Given the description of an element on the screen output the (x, y) to click on. 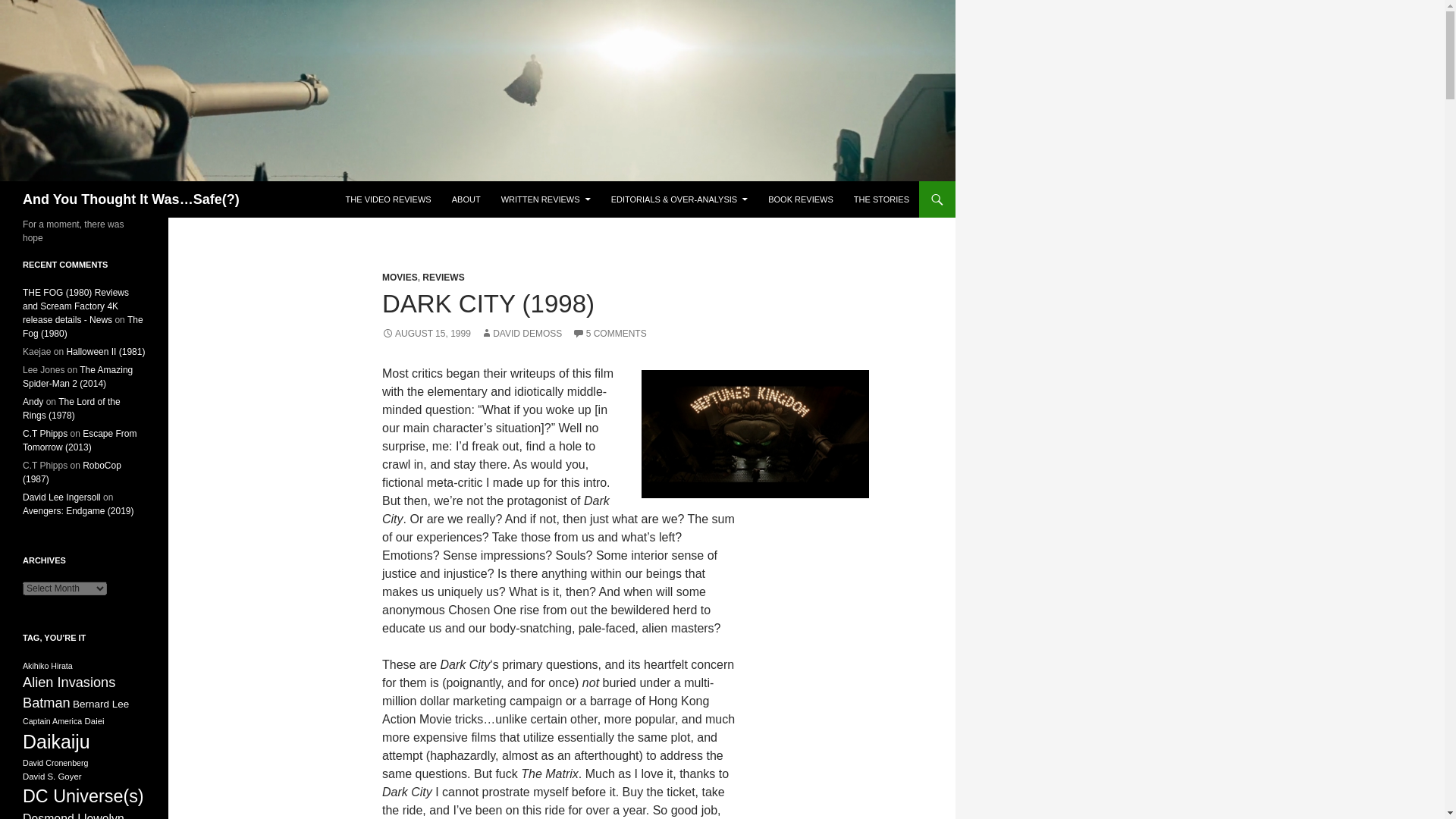
5 COMMENTS (609, 333)
THE VIDEO REVIEWS (388, 198)
AUGUST 15, 1999 (425, 333)
REVIEWS (443, 276)
BOOK REVIEWS (800, 198)
MOVIES (399, 276)
"Abandon all hope, ye who enter here." (755, 433)
ABOUT (465, 198)
THE STORIES (881, 198)
WRITTEN REVIEWS (545, 198)
DAVID DEMOSS (521, 333)
